Given the description of an element on the screen output the (x, y) to click on. 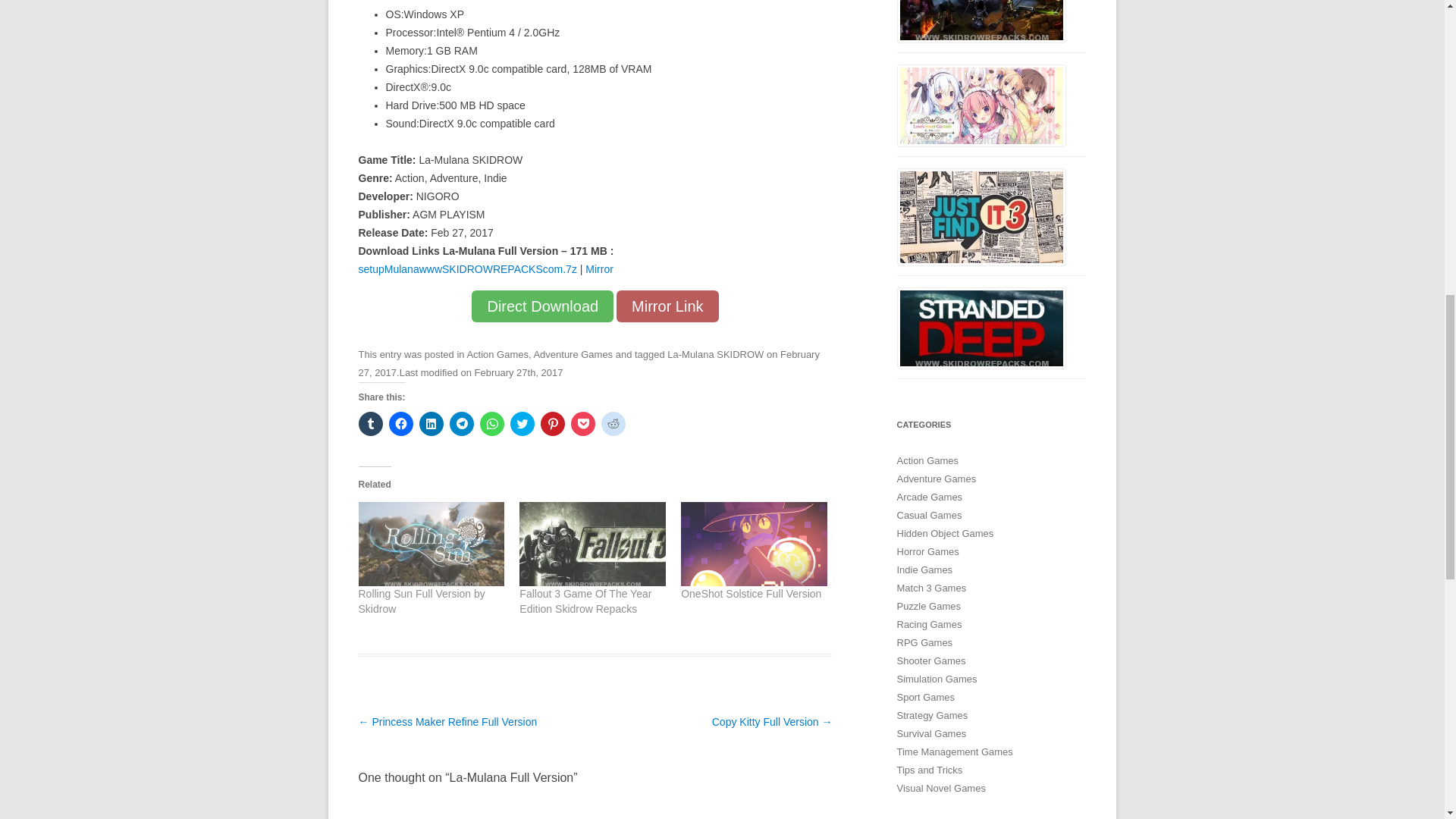
February 27, 2017 (588, 363)
Mirror Link (666, 306)
Click to share on Facebook (400, 423)
Adventure Games (572, 354)
Direct Download (541, 306)
Click to share on LinkedIn (430, 423)
Click to share on Tumblr (369, 423)
Action Games (496, 354)
Mirror (598, 268)
Click to share on Telegram (460, 423)
8:37 pm (588, 363)
Rolling Sun Full Version by Skidrow (421, 601)
Click to share on WhatsApp (491, 423)
Fallout 3 Game Of The Year Edition Skidrow Repacks (584, 601)
Click to share on Twitter (521, 423)
